Given the description of an element on the screen output the (x, y) to click on. 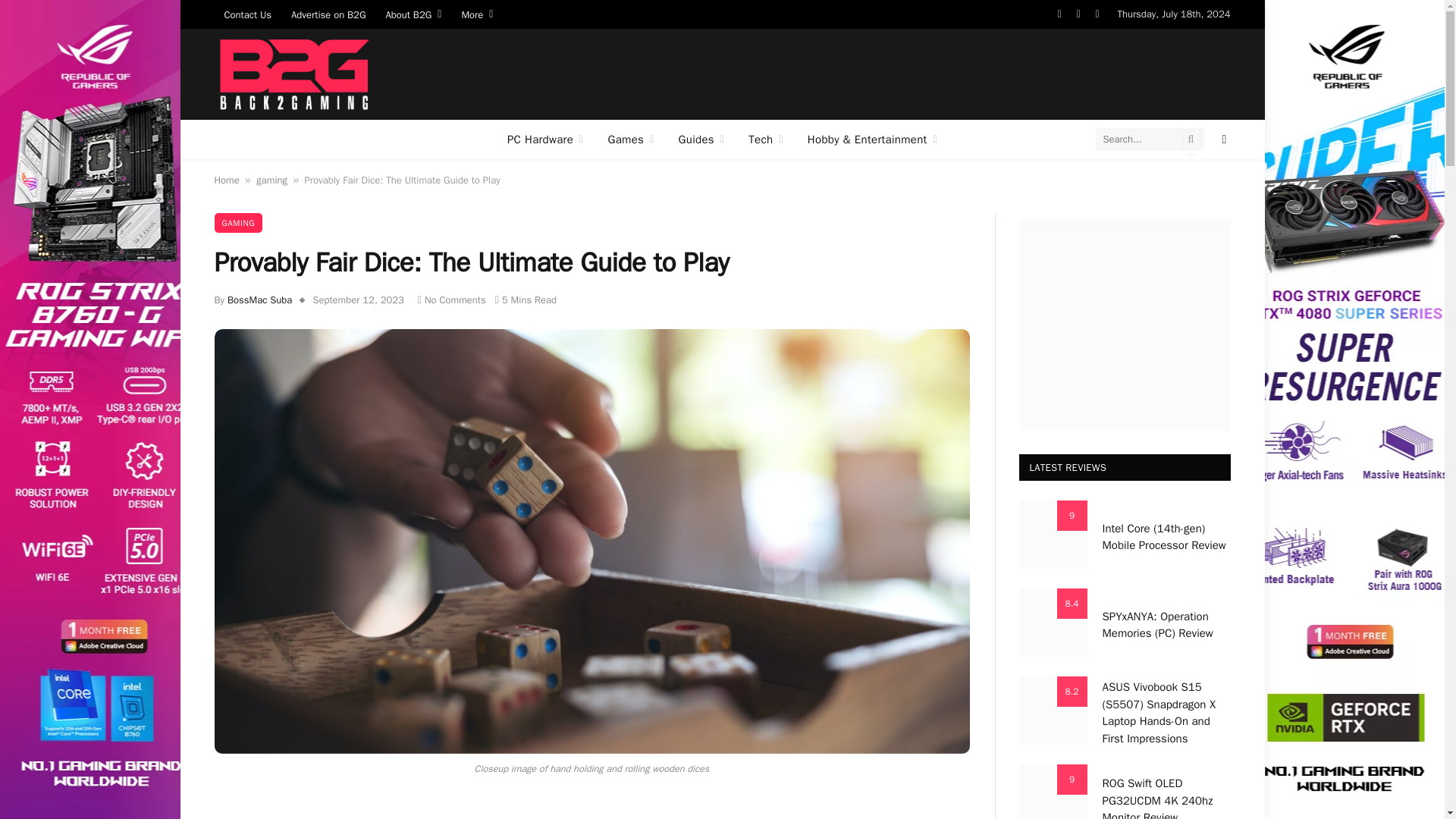
Advertise on B2G (328, 14)
Back2Gaming (292, 73)
About B2G (413, 14)
PC Hardware (545, 138)
More (476, 14)
Contact Us (247, 14)
